Given the description of an element on the screen output the (x, y) to click on. 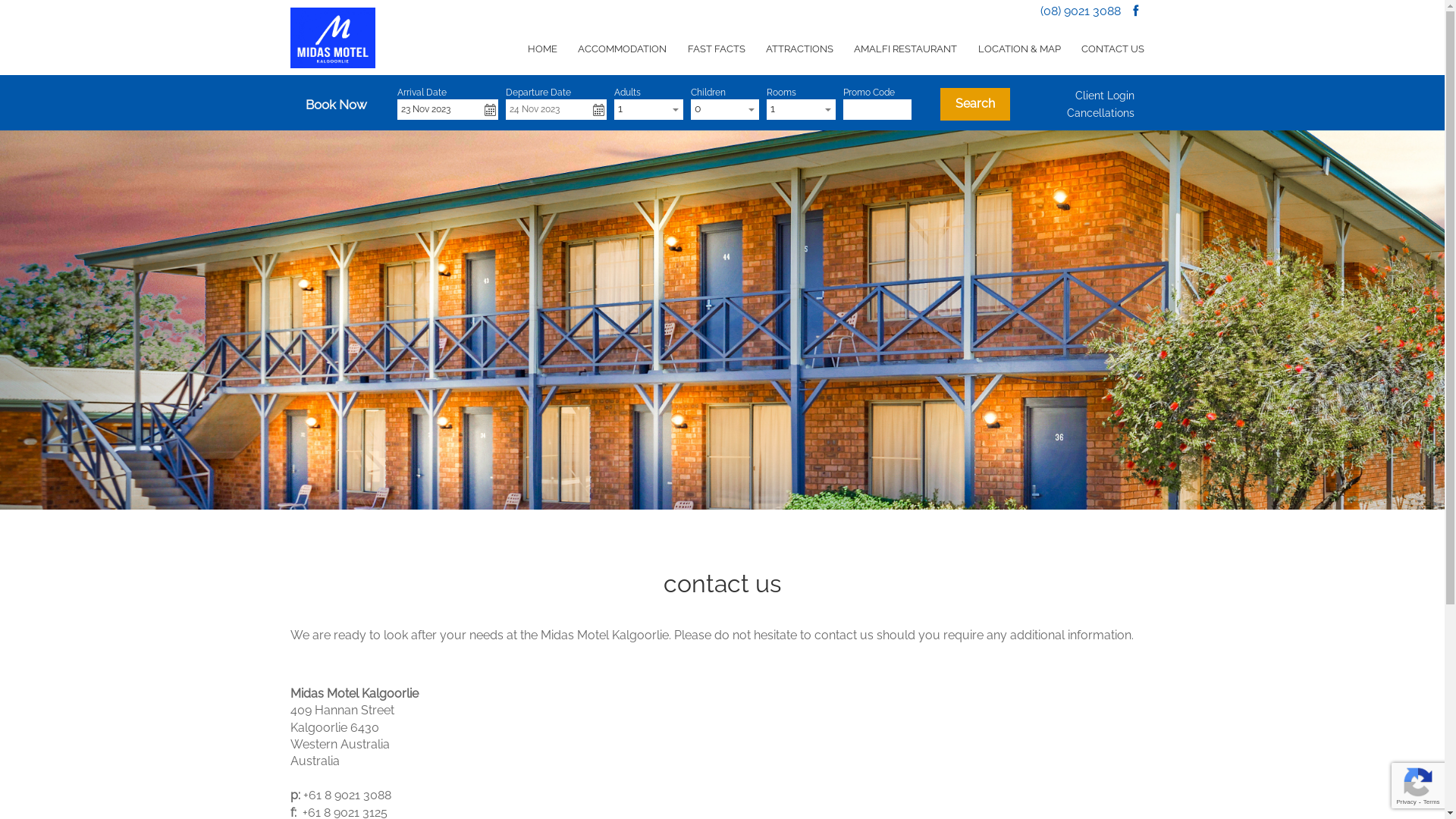
Facebook Element type: hover (1135, 10)
(08) 9021 3088 Element type: text (1080, 10)
LOCATION & MAP Element type: text (1018, 48)
AMALFI RESTAURANT Element type: text (905, 48)
ACCOMMODATION Element type: text (622, 48)
CONTACT US Element type: text (1112, 48)
HOME Element type: text (542, 48)
FAST FACTS Element type: text (716, 48)
Client Login Element type: text (1104, 95)
Search Element type: text (975, 103)
Cancellations Element type: text (1100, 112)
ATTRACTIONS Element type: text (799, 48)
